Given the description of an element on the screen output the (x, y) to click on. 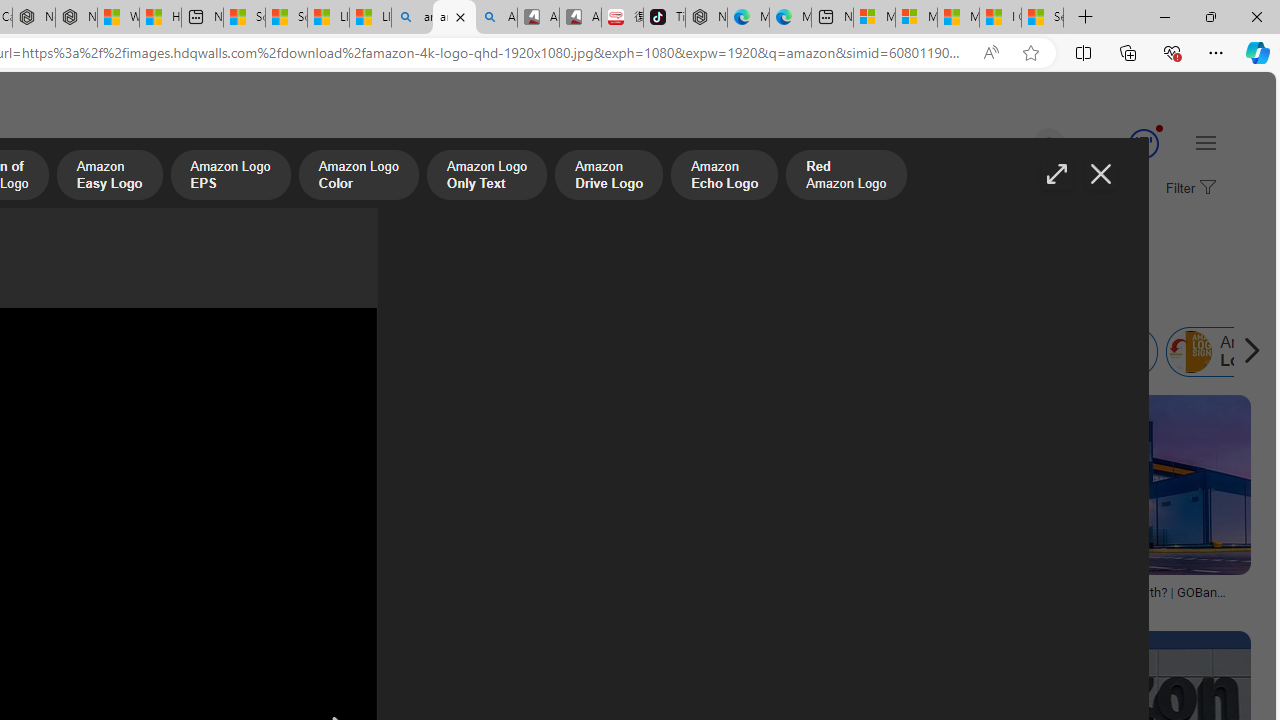
Amazon Logo Color (358, 177)
Amazon Egypt (942, 351)
Full screen (1055, 173)
Amazon Forest (517, 351)
Amazon Spain (800, 351)
Class: item col (1087, 351)
Amazon Shoes (659, 351)
GOBankingRates (1023, 605)
Amazon Echo Logo (723, 177)
